Given the description of an element on the screen output the (x, y) to click on. 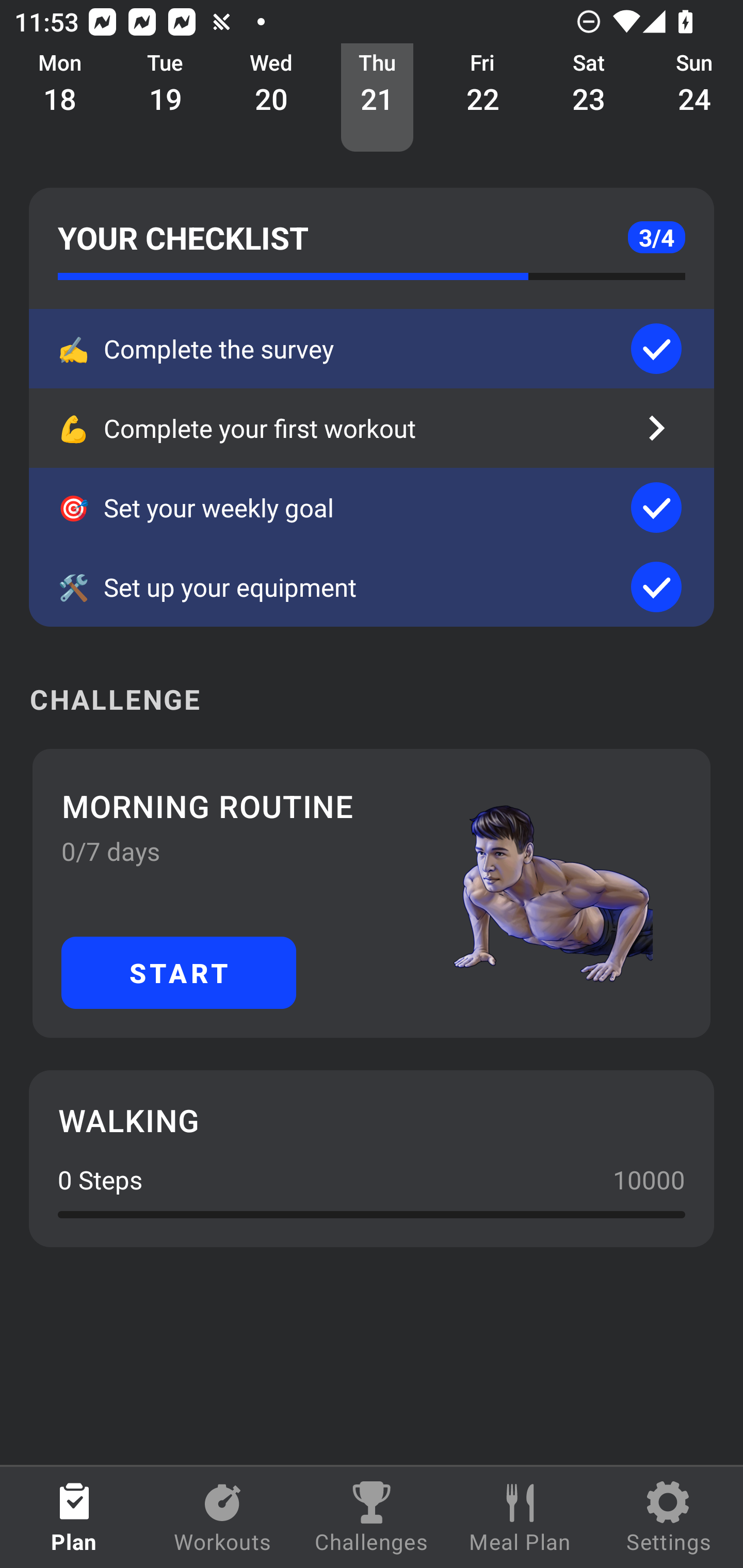
Mon 18 (59, 97)
Tue 19 (165, 97)
Wed 20 (271, 97)
Thu 21 (377, 97)
Fri 22 (483, 97)
Sat 23 (588, 97)
Sun 24 (692, 97)
💪 Complete your first workout (371, 427)
MORNING ROUTINE 0/7 days START (371, 892)
START (178, 972)
WALKING 0 Steps 10000 0.0 (371, 1158)
 Workouts  (222, 1517)
 Challenges  (371, 1517)
 Meal Plan  (519, 1517)
 Settings  (668, 1517)
